Given the description of an element on the screen output the (x, y) to click on. 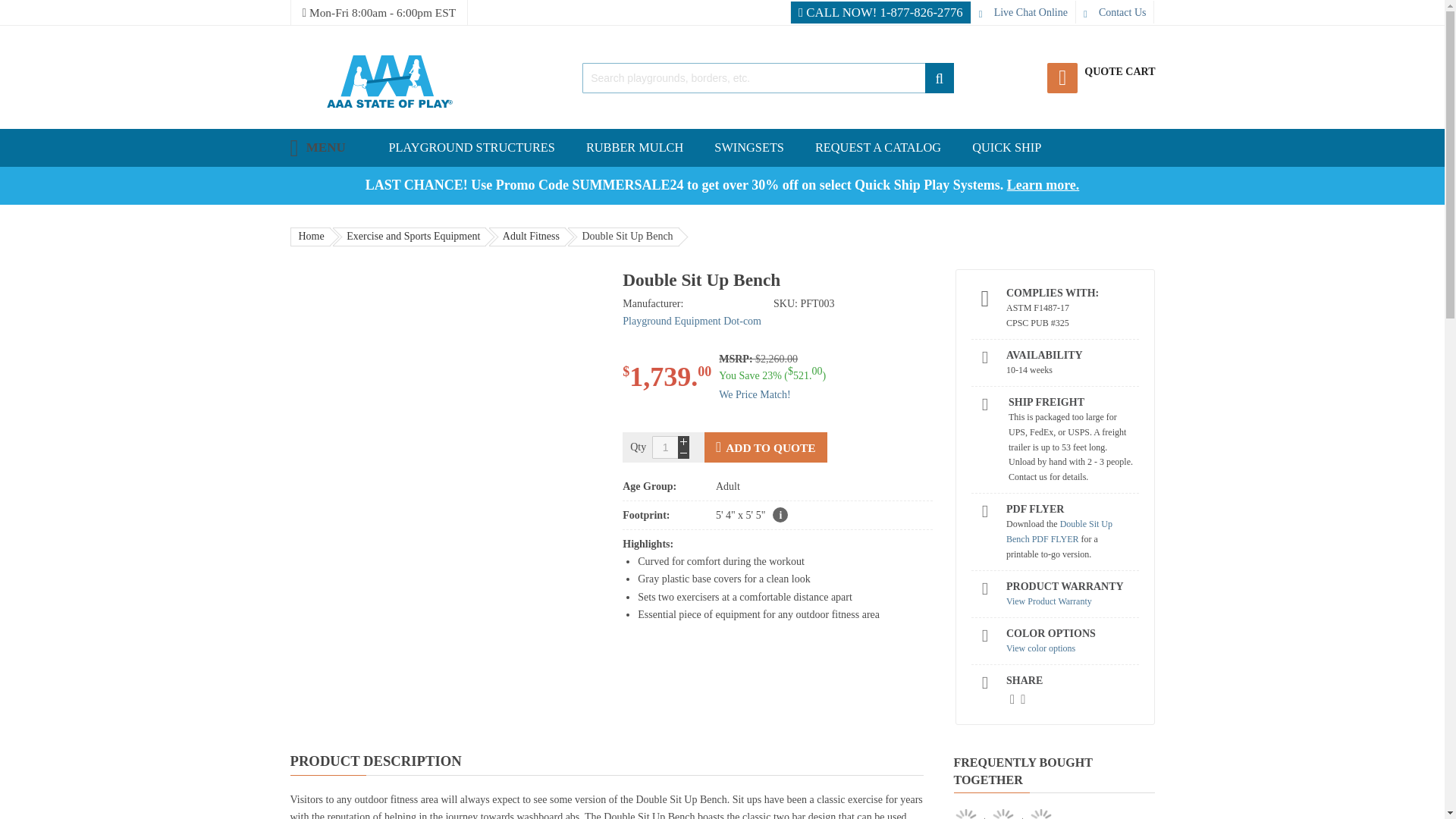
QUOTE CART (1100, 69)
Jolly Jack Play System (1040, 814)
Live Chat Online (1023, 11)
Menu (317, 147)
Basic - UltraLeisure Rectangular Portable Table (1002, 814)
1 (665, 446)
Double Sit Up Bench (964, 814)
view all Playground Equipment Dot-com products (692, 320)
CALL NOW! 1-877-826-2776 (880, 12)
Contact Us (1114, 11)
